Given the description of an element on the screen output the (x, y) to click on. 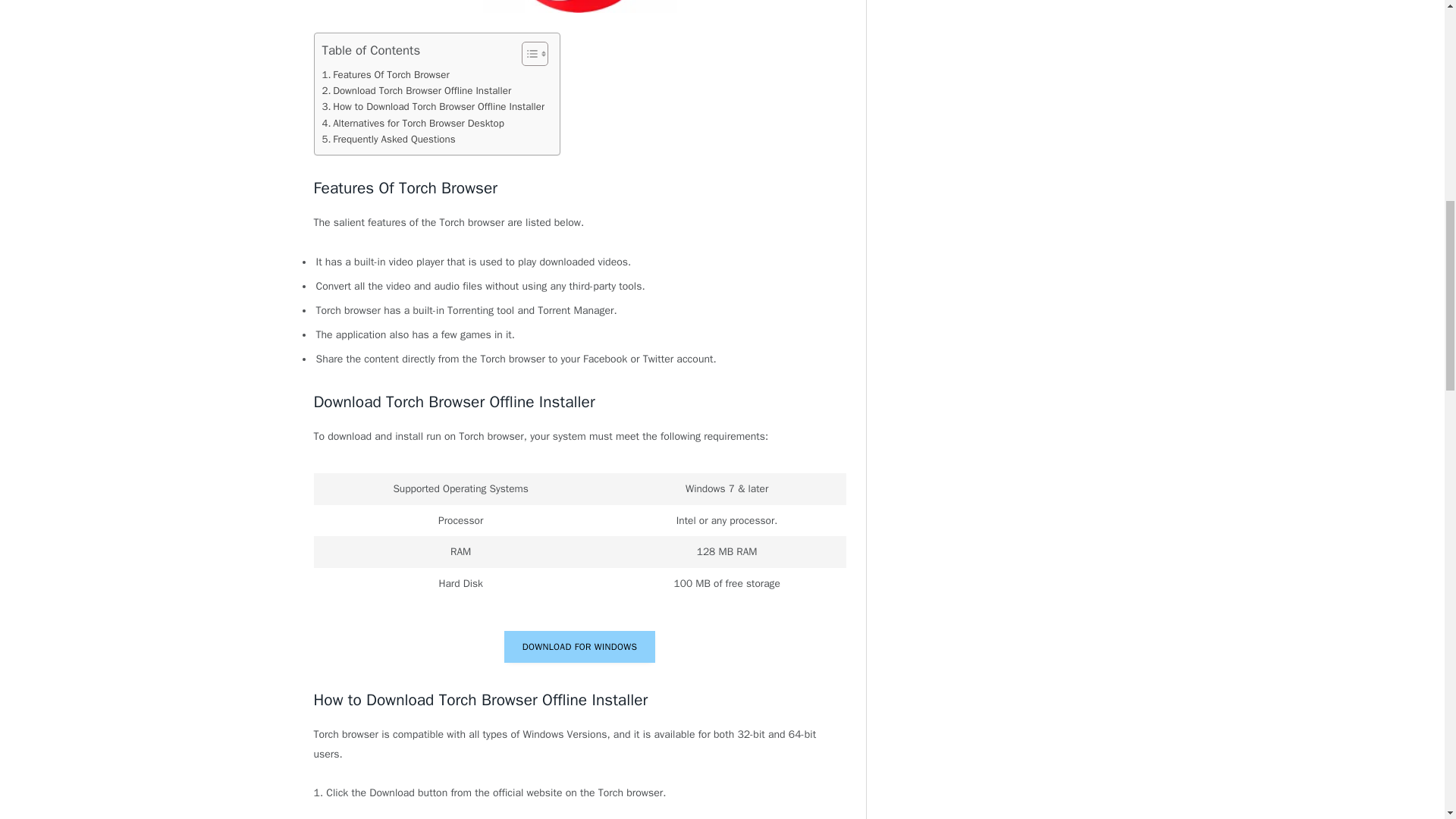
Features Of Torch Browser (384, 74)
Frequently Asked Questions (387, 139)
Download Torch Browser Offline Installer (416, 90)
Download Torch Browser Offline Installer (416, 90)
Features Of Torch Browser (384, 74)
Alternatives for Torch Browser Desktop (412, 123)
Frequently Asked Questions (387, 139)
DOWNLOAD FOR WINDOWS (579, 646)
Alternatives for Torch Browser Desktop (412, 123)
How to Download Torch Browser Offline Installer (432, 106)
